Given the description of an element on the screen output the (x, y) to click on. 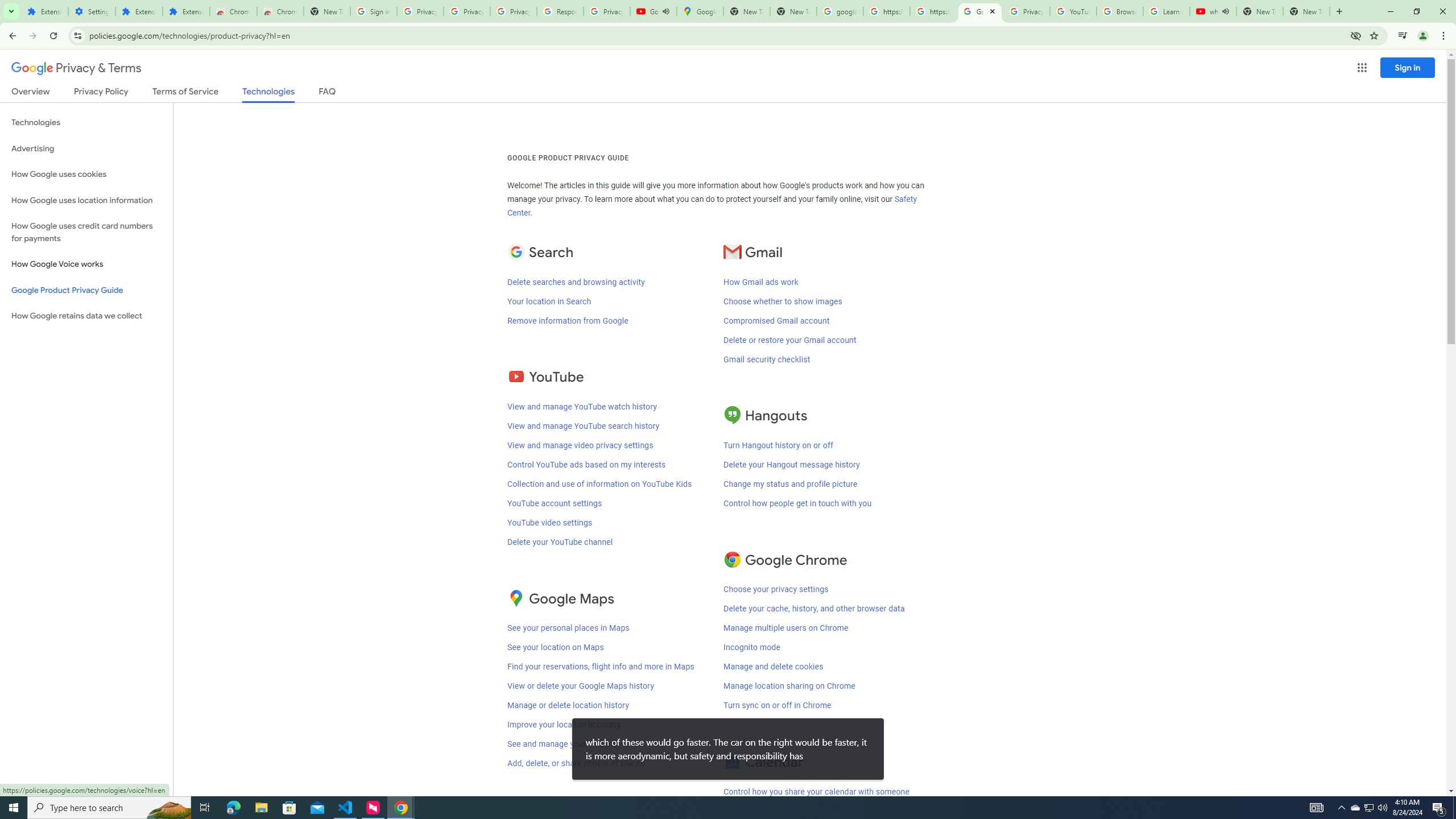
Find your reservations, flight info and more in Maps (600, 666)
Collection and use of information on YouTube Kids (598, 483)
See your personal places in Maps (567, 628)
